Given the description of an element on the screen output the (x, y) to click on. 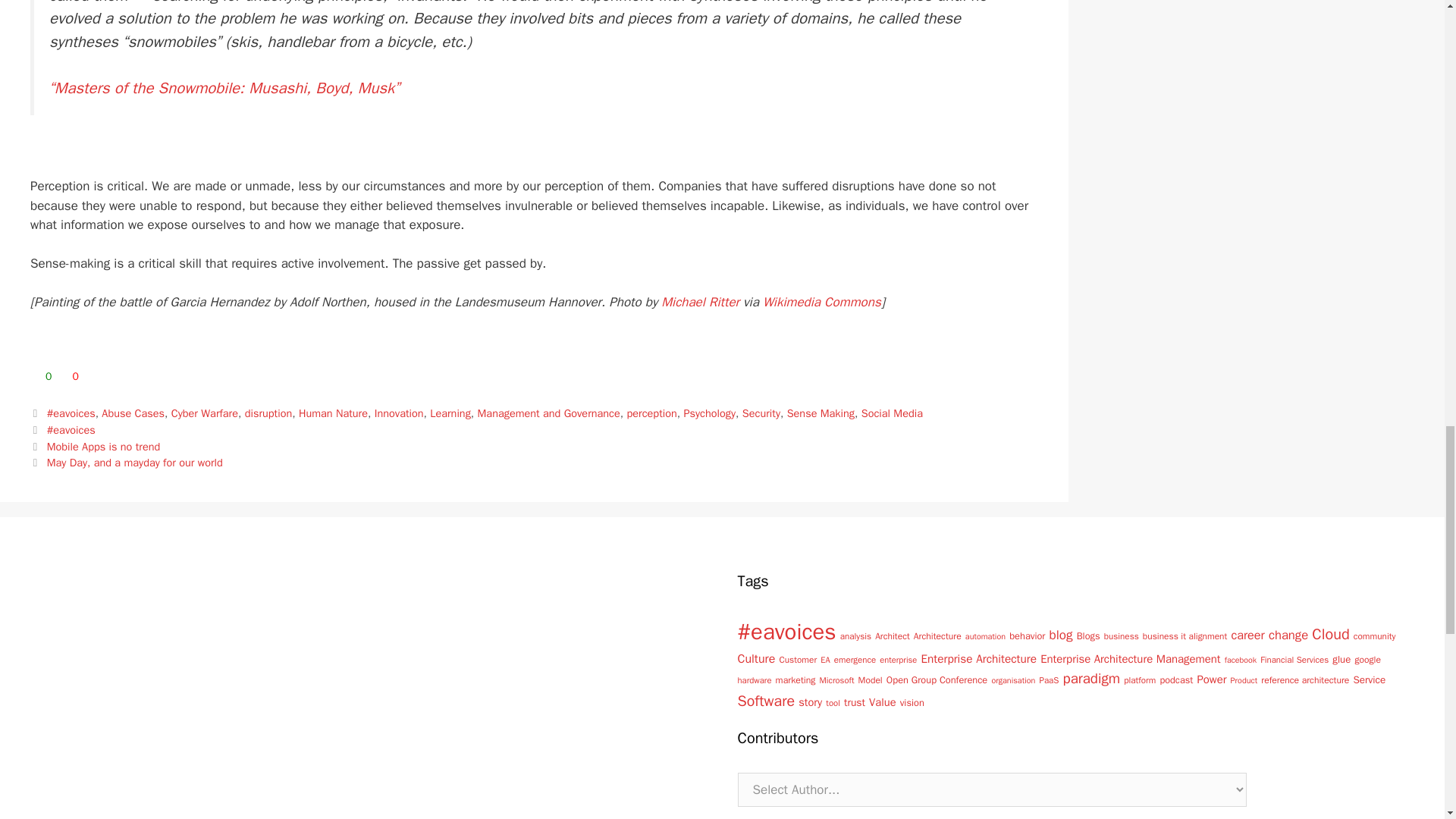
Learning (449, 413)
Michael Ritter (700, 302)
Wikimedia Commons (821, 302)
Abuse Cases (132, 413)
Innovation (398, 413)
Cyber Warfare (204, 413)
disruption (268, 413)
Human Nature (333, 413)
